Given the description of an element on the screen output the (x, y) to click on. 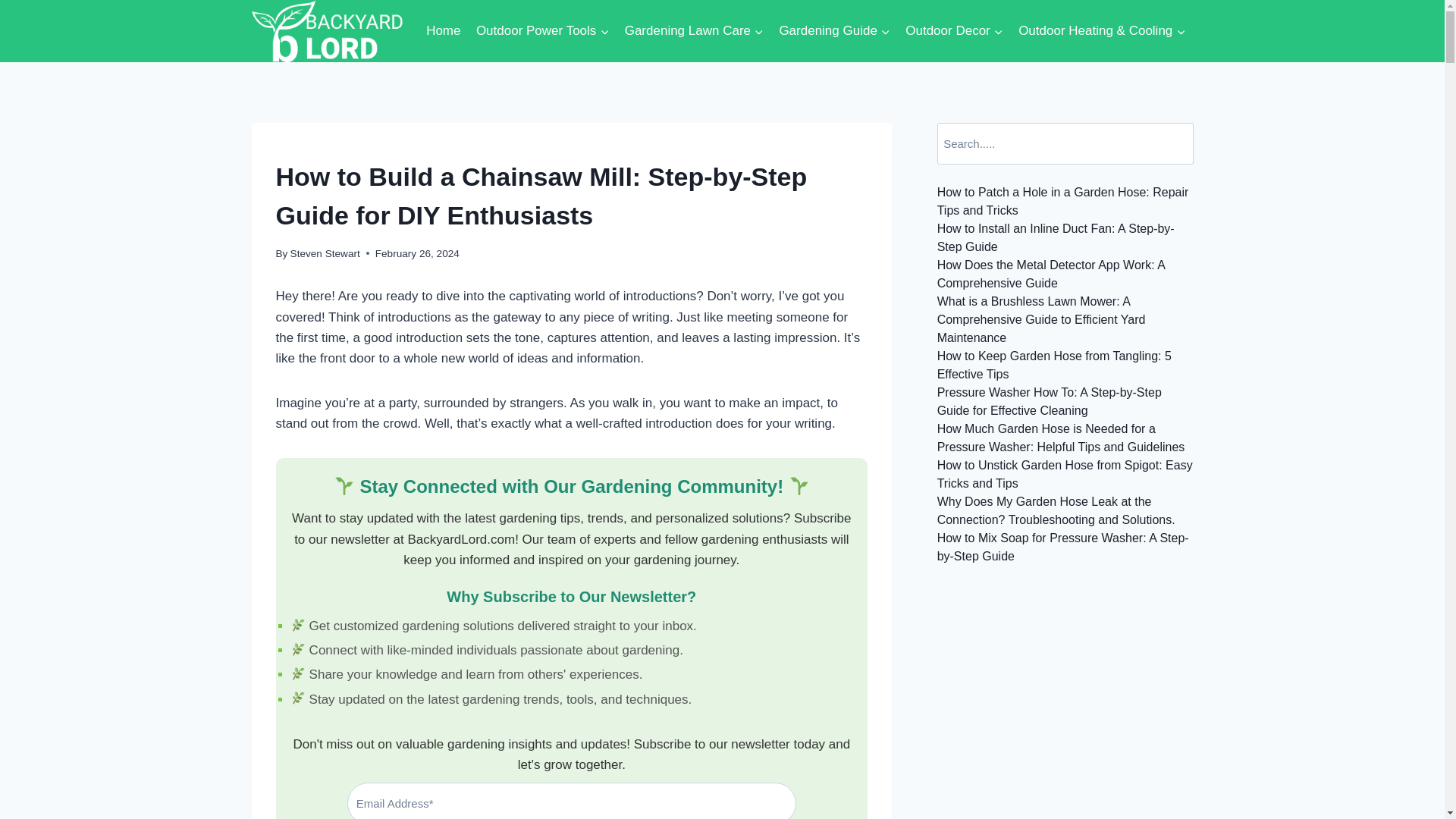
Outdoor Power Tools (542, 30)
Gardening Guide (834, 30)
Home (443, 30)
Gardening Lawn Care (694, 30)
Outdoor Decor (954, 30)
